Given the description of an element on the screen output the (x, y) to click on. 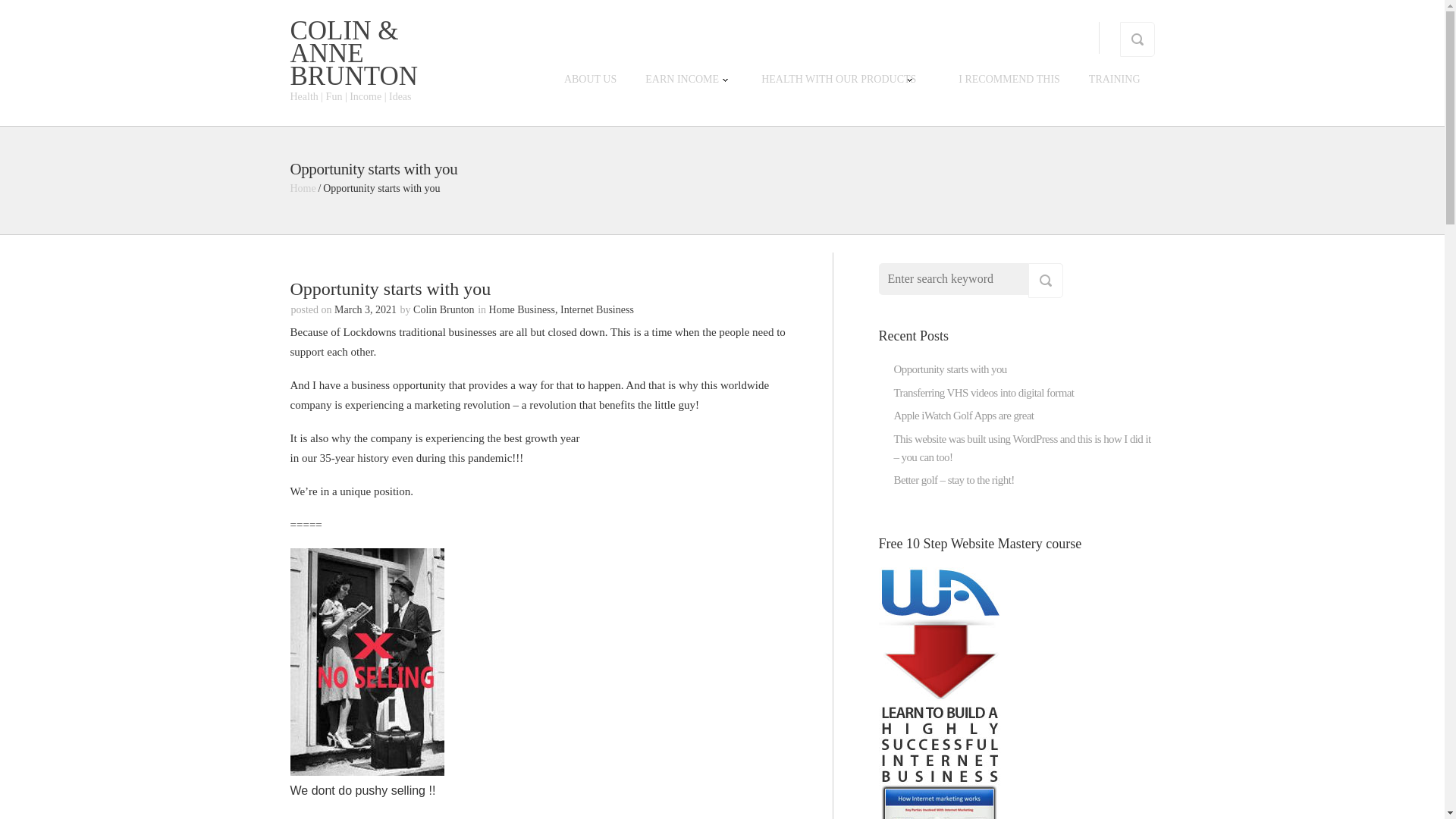
ABOUT US (589, 79)
TRAINING (1114, 79)
Posts by Colin Brunton (443, 309)
Colin Brunton (443, 309)
I RECOMMEND THIS (1008, 79)
Home (302, 188)
Opportunity starts with you (949, 369)
EARN INCOME (682, 79)
March 3, 2021 (365, 309)
Internet Business (596, 309)
